Given the description of an element on the screen output the (x, y) to click on. 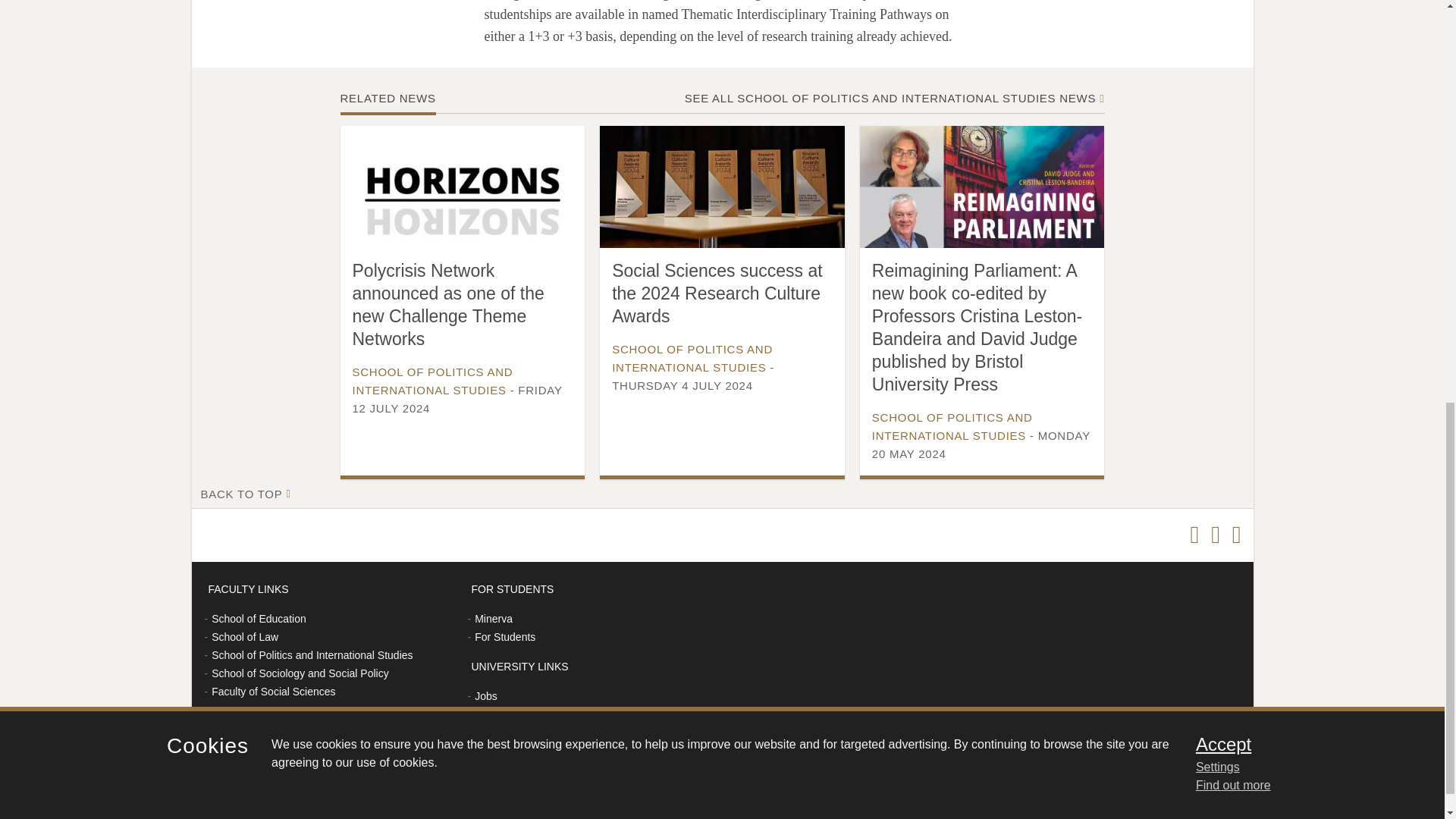
Go to Facebook page (1215, 535)
Go to Twitter page (1193, 535)
Go to Weibo page (1236, 535)
